Given the description of an element on the screen output the (x, y) to click on. 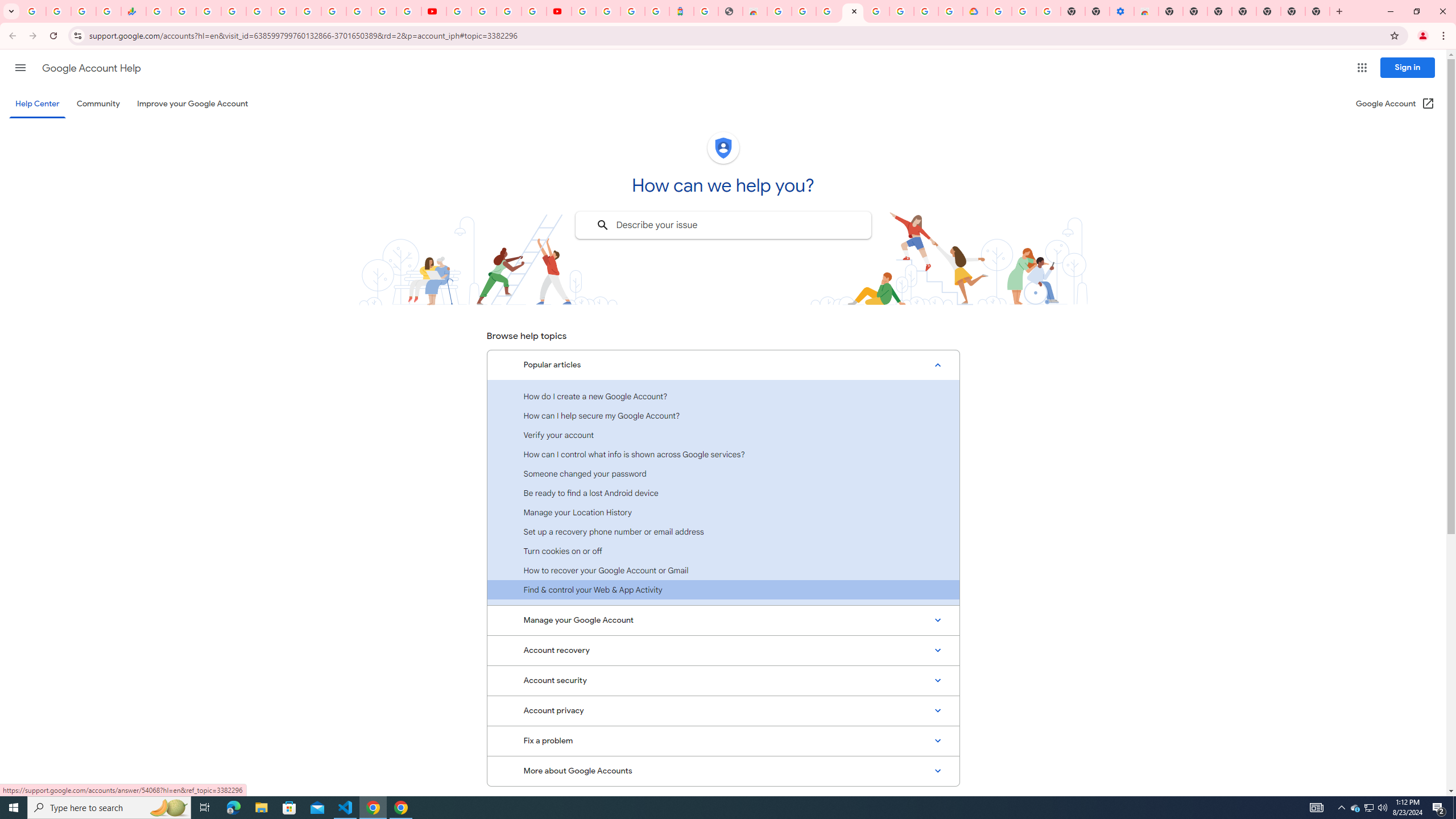
Account privacy (722, 710)
Chrome Web Store - Household (754, 11)
Google Account Help (852, 11)
More about Google Accounts (722, 771)
Google Account Help (91, 68)
Someone changed your password (722, 473)
Sign in - Google Accounts (608, 11)
Sign in - Google Accounts (233, 11)
